Given the description of an element on the screen output the (x, y) to click on. 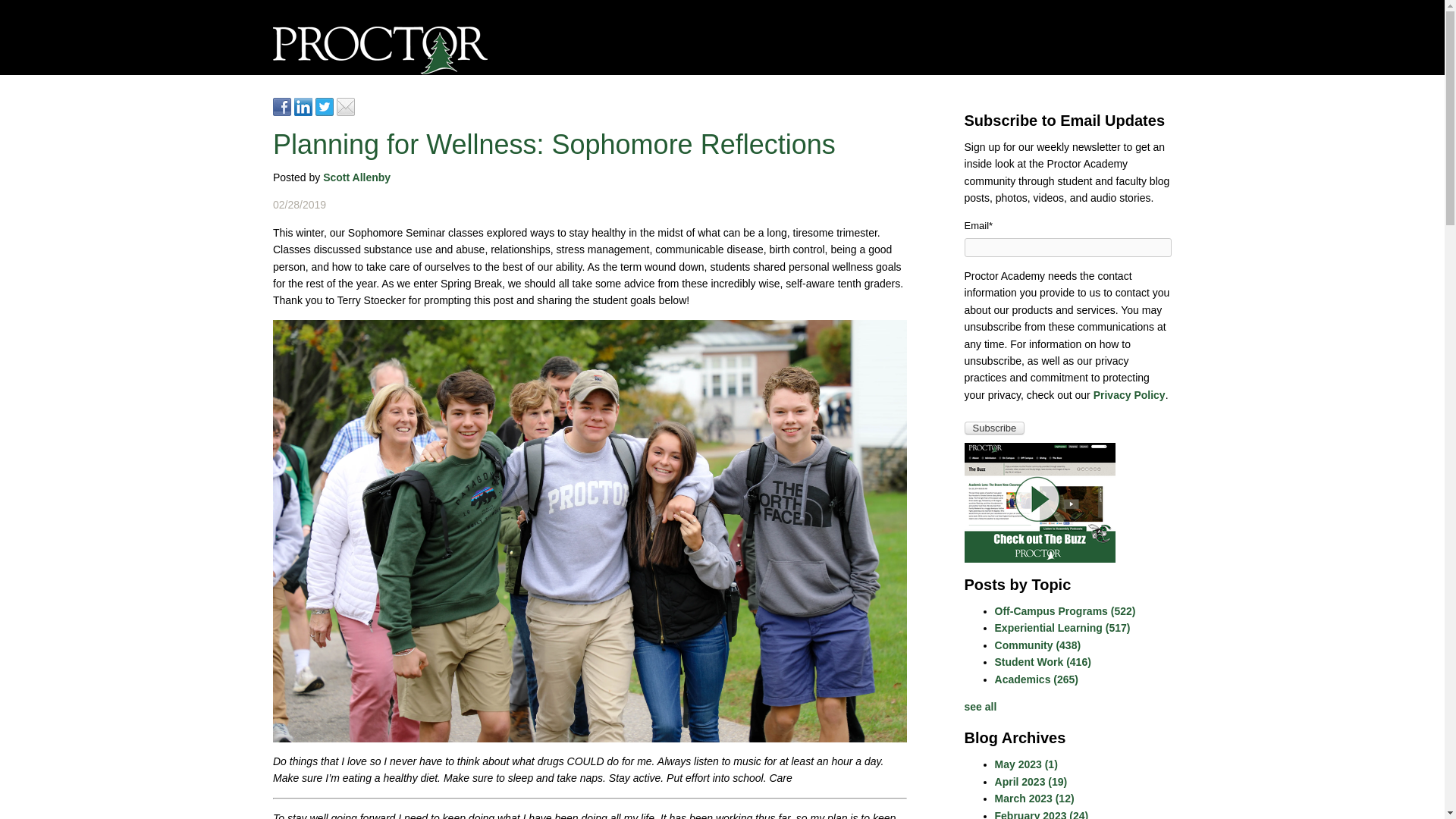
Subscribe (994, 427)
Proctor (380, 50)
Privacy Policy (1129, 395)
Subscribe (994, 427)
Scott Allenby (356, 177)
